Given the description of an element on the screen output the (x, y) to click on. 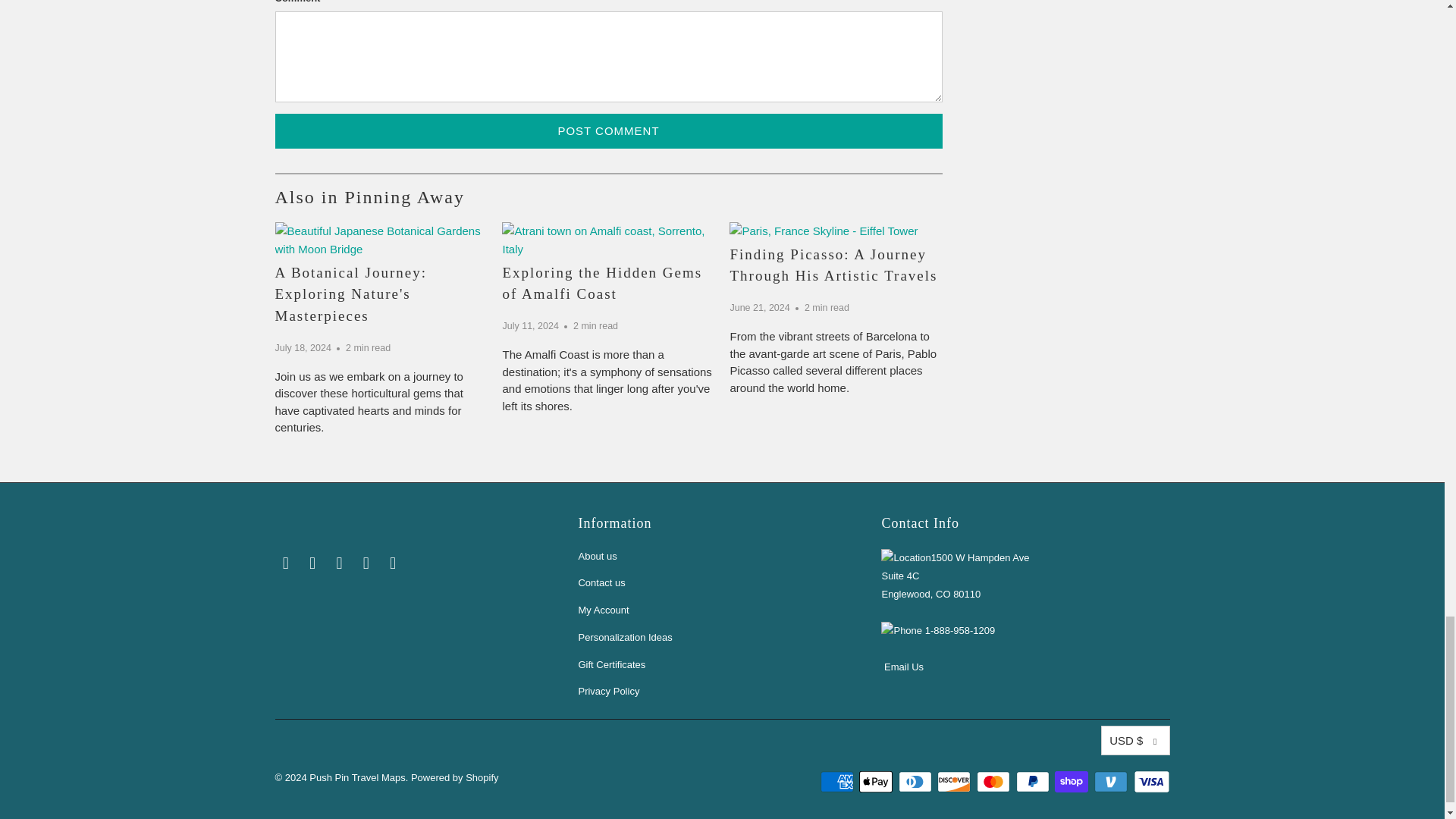
Diners Club (916, 781)
Mastercard (994, 781)
Venmo (1112, 781)
Visa (1150, 781)
Shop Pay (1072, 781)
Post comment (608, 130)
Apple Pay (877, 781)
Discover (955, 781)
American Express (839, 781)
PayPal (1034, 781)
